Given the description of an element on the screen output the (x, y) to click on. 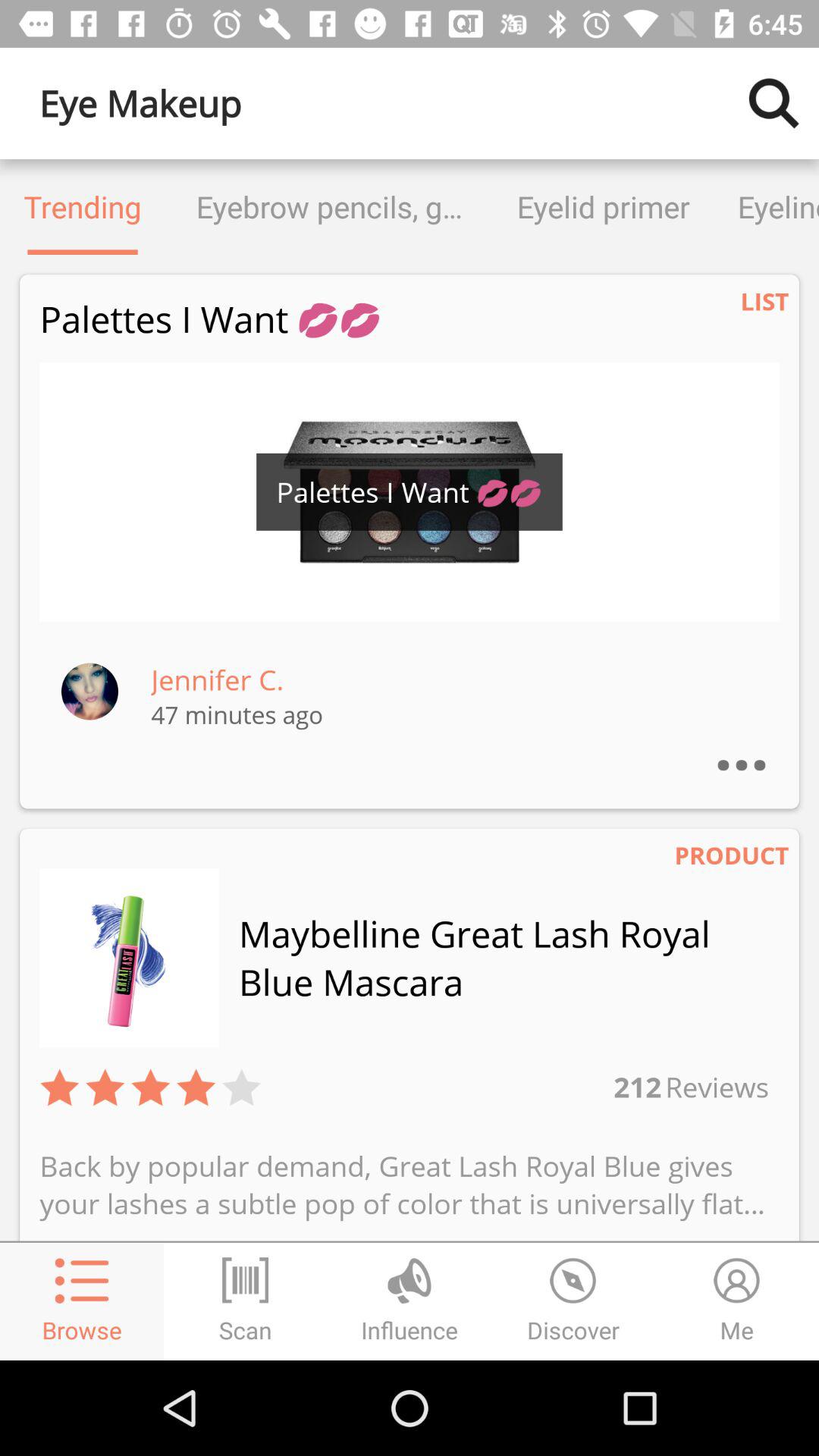
open the icon to the left of ... item (217, 679)
